Given the description of an element on the screen output the (x, y) to click on. 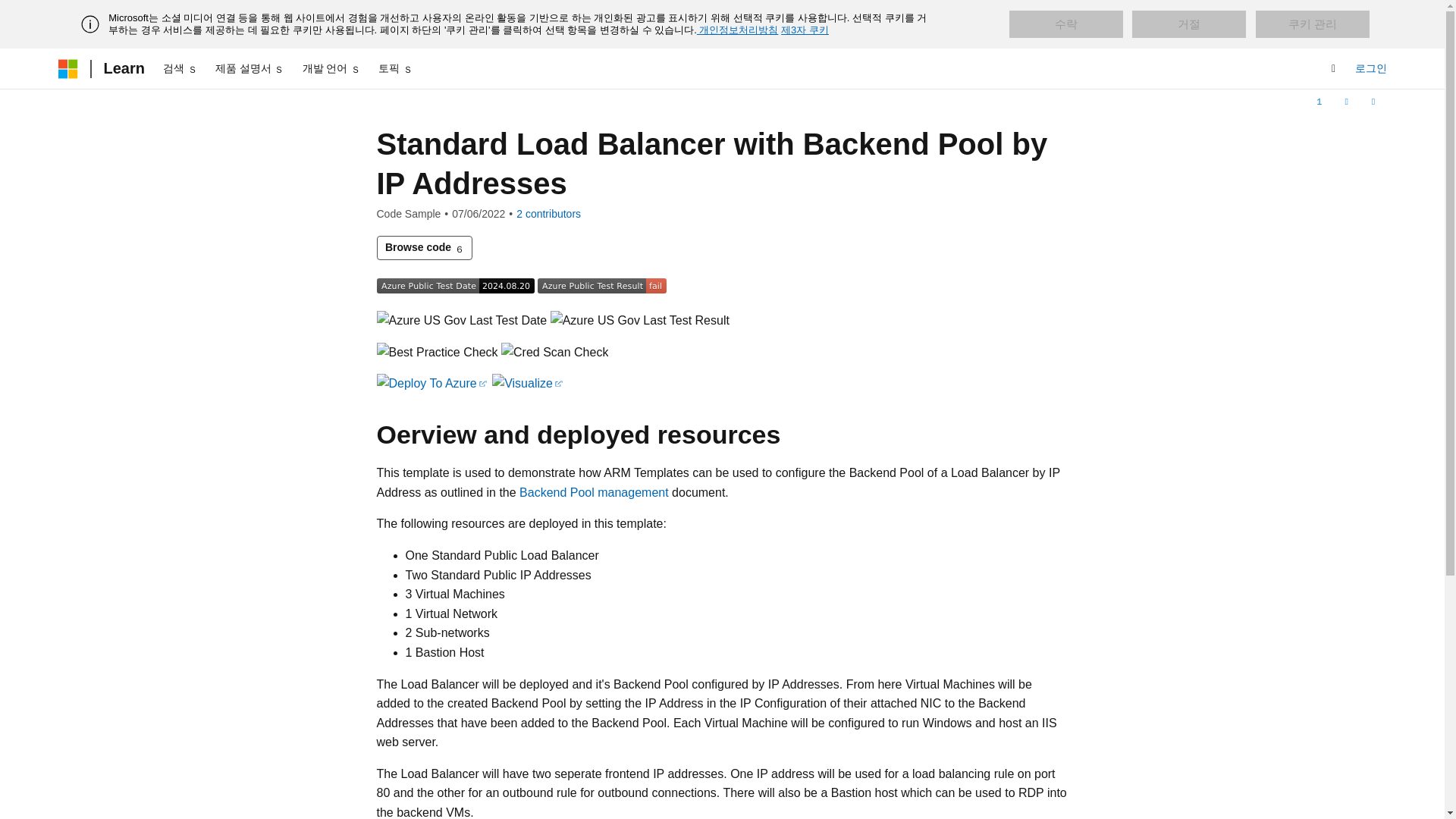
Learn (123, 68)
View all contributors (548, 214)
2 contributors (548, 214)
Browse code (423, 247)
